Given the description of an element on the screen output the (x, y) to click on. 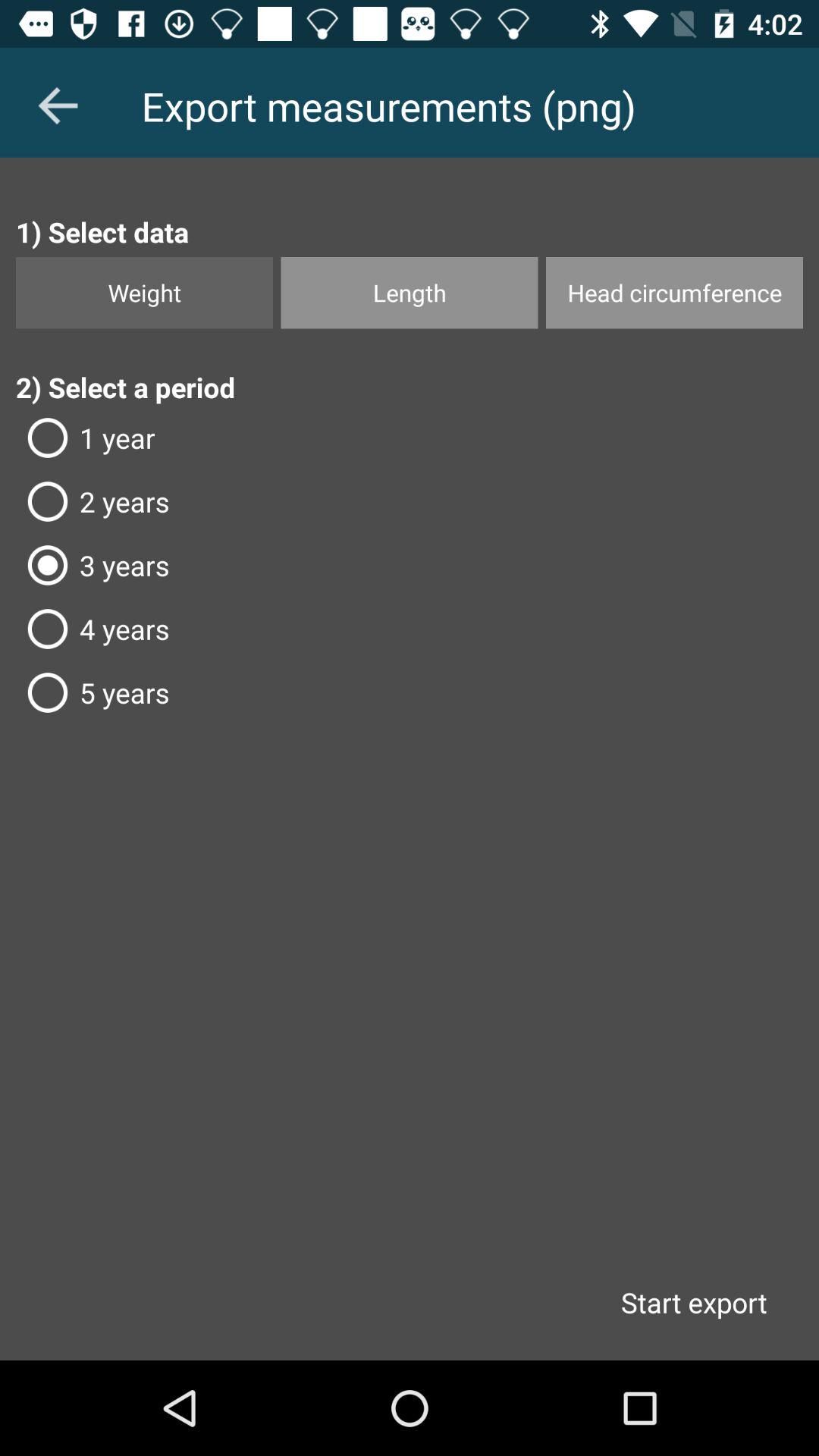
select weight item (144, 292)
